Given the description of an element on the screen output the (x, y) to click on. 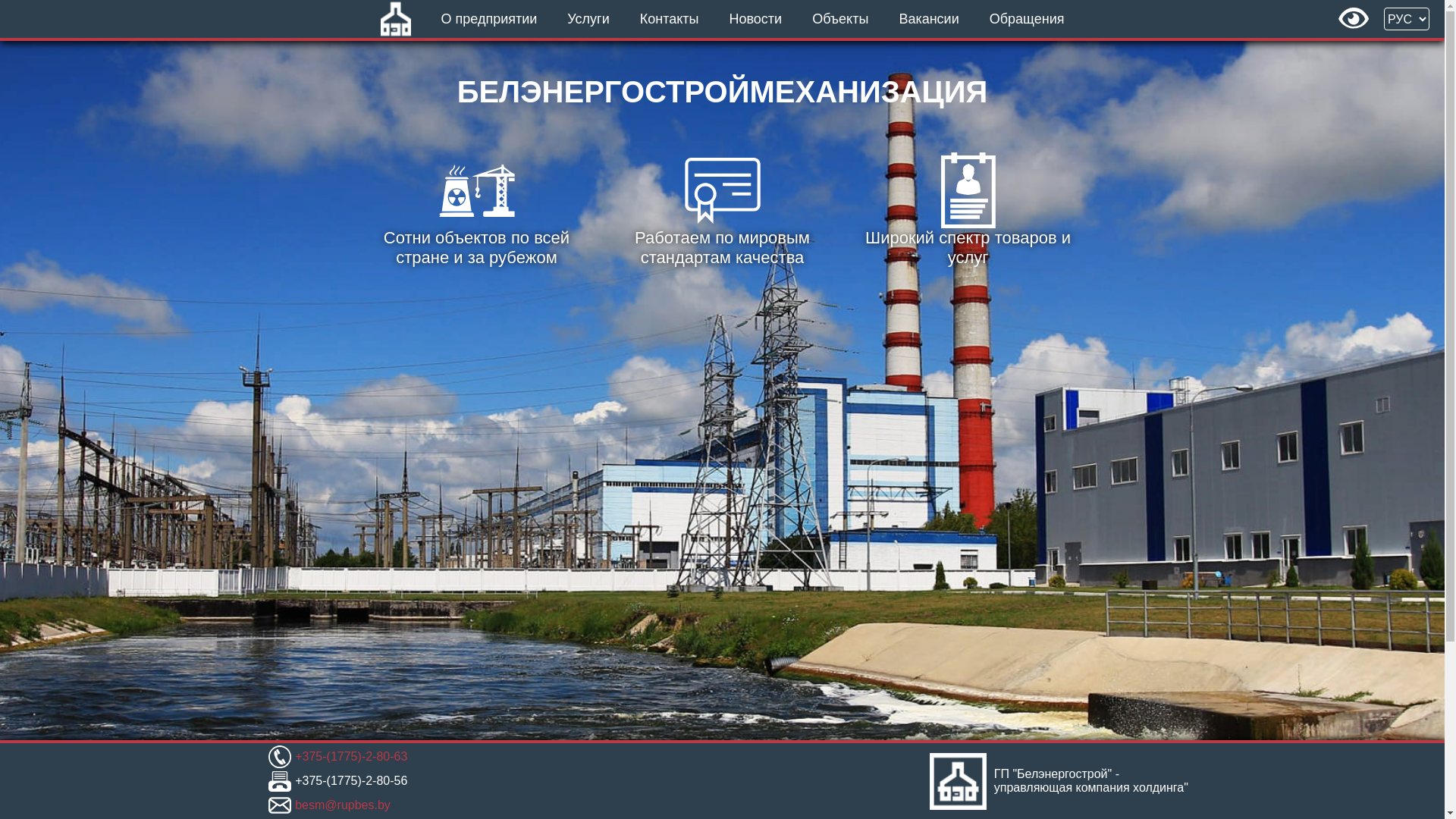
besm@rupbes.by Element type: text (342, 805)
+375-(1775)-2-80-63 Element type: text (350, 756)
